Given the description of an element on the screen output the (x, y) to click on. 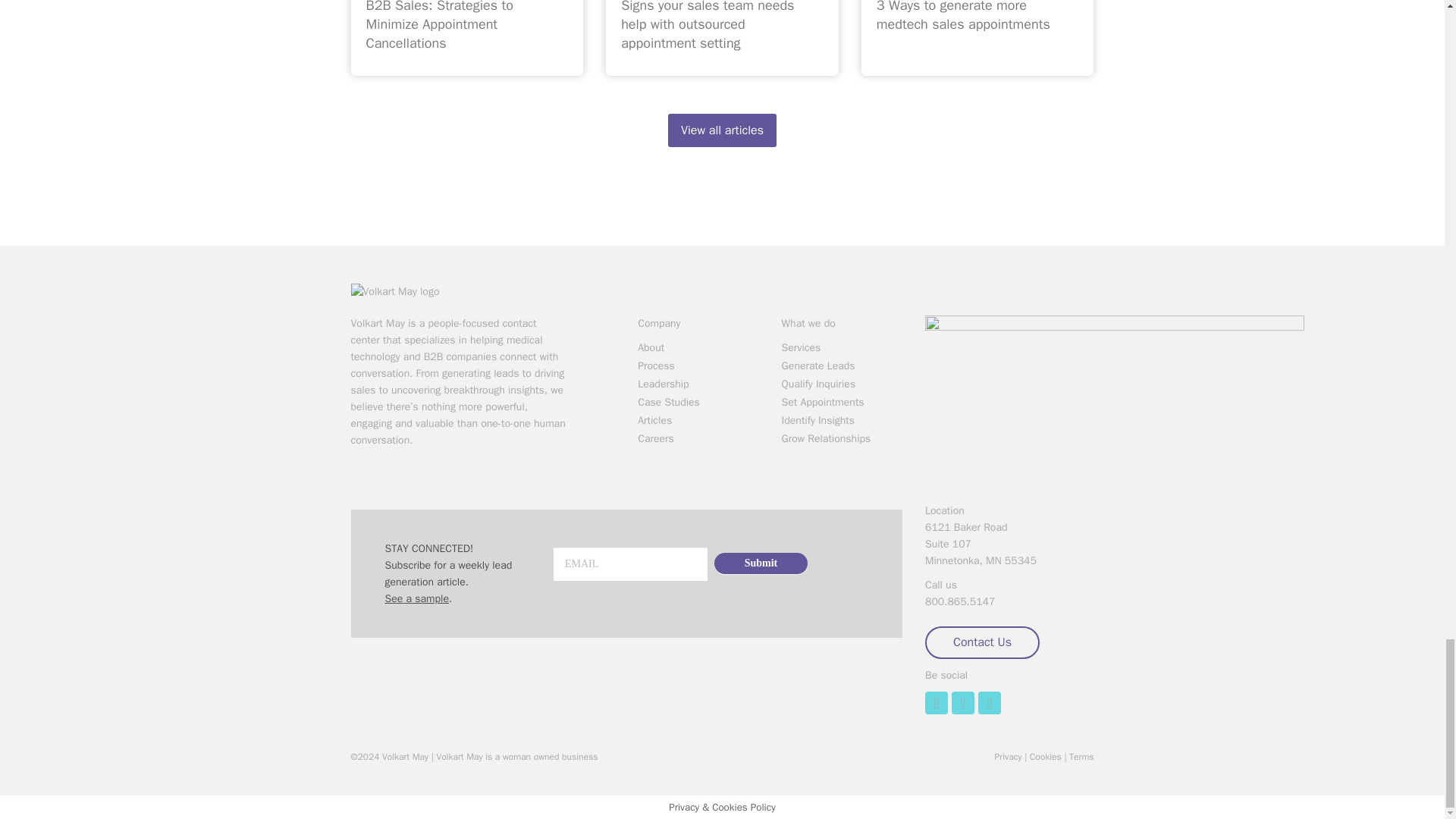
Set Appointments (841, 402)
Generate Leads (841, 365)
B2B Sales: Strategies to Minimize Appointment Cancellations (438, 25)
Grow Relationships (841, 438)
Qualify Inquiries (841, 384)
Leadership (697, 384)
Process (697, 365)
Identify Insights (841, 420)
Careers (697, 438)
About (697, 347)
